Given the description of an element on the screen output the (x, y) to click on. 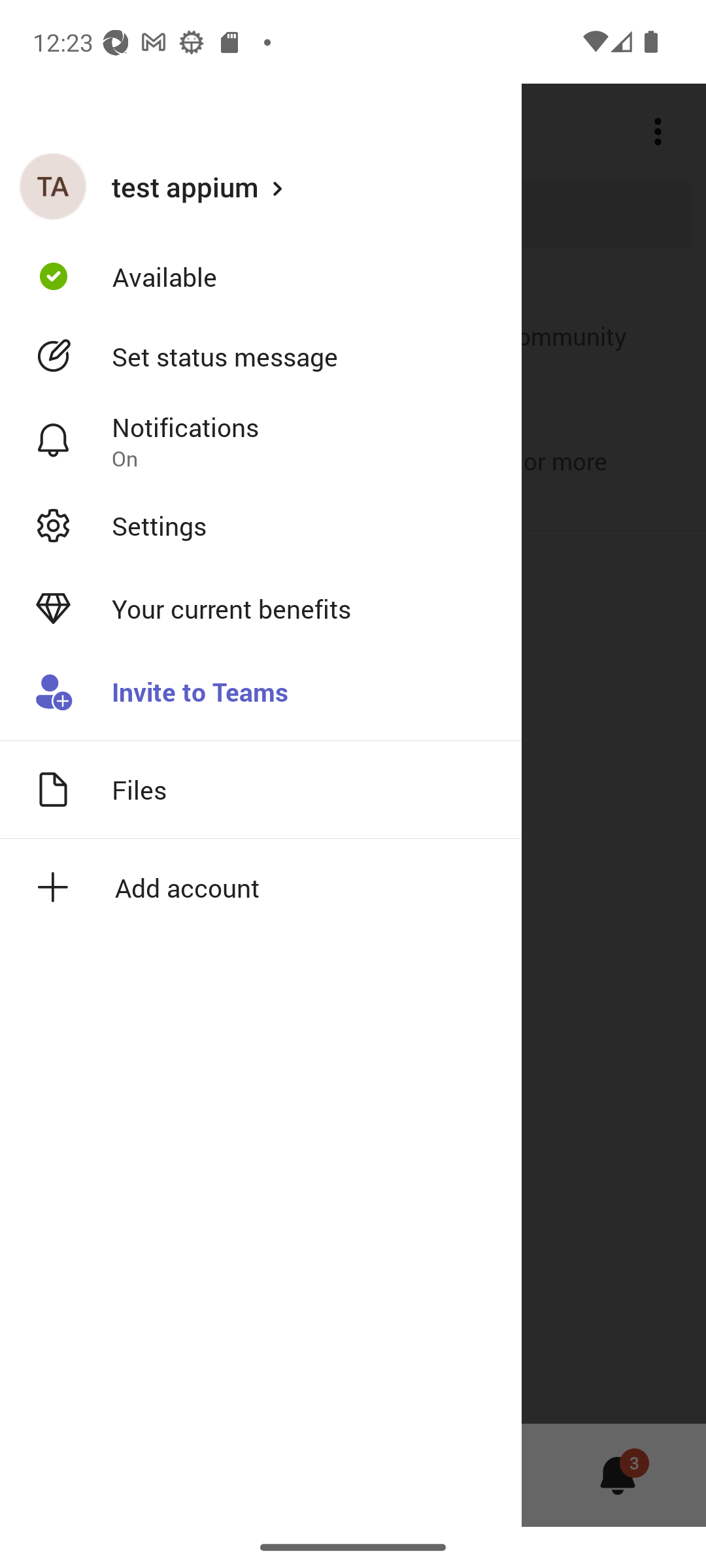
test appium (260, 186)
test appium profile picture (53, 186)
Notifications Notification settings On (260, 441)
Settings Open settings (260, 525)
Your current benefits (260, 608)
Invite to Teams Invite someone to your Teams org (260, 691)
Files (260, 789)
Add account icon Add account (260, 887)
